Given the description of an element on the screen output the (x, y) to click on. 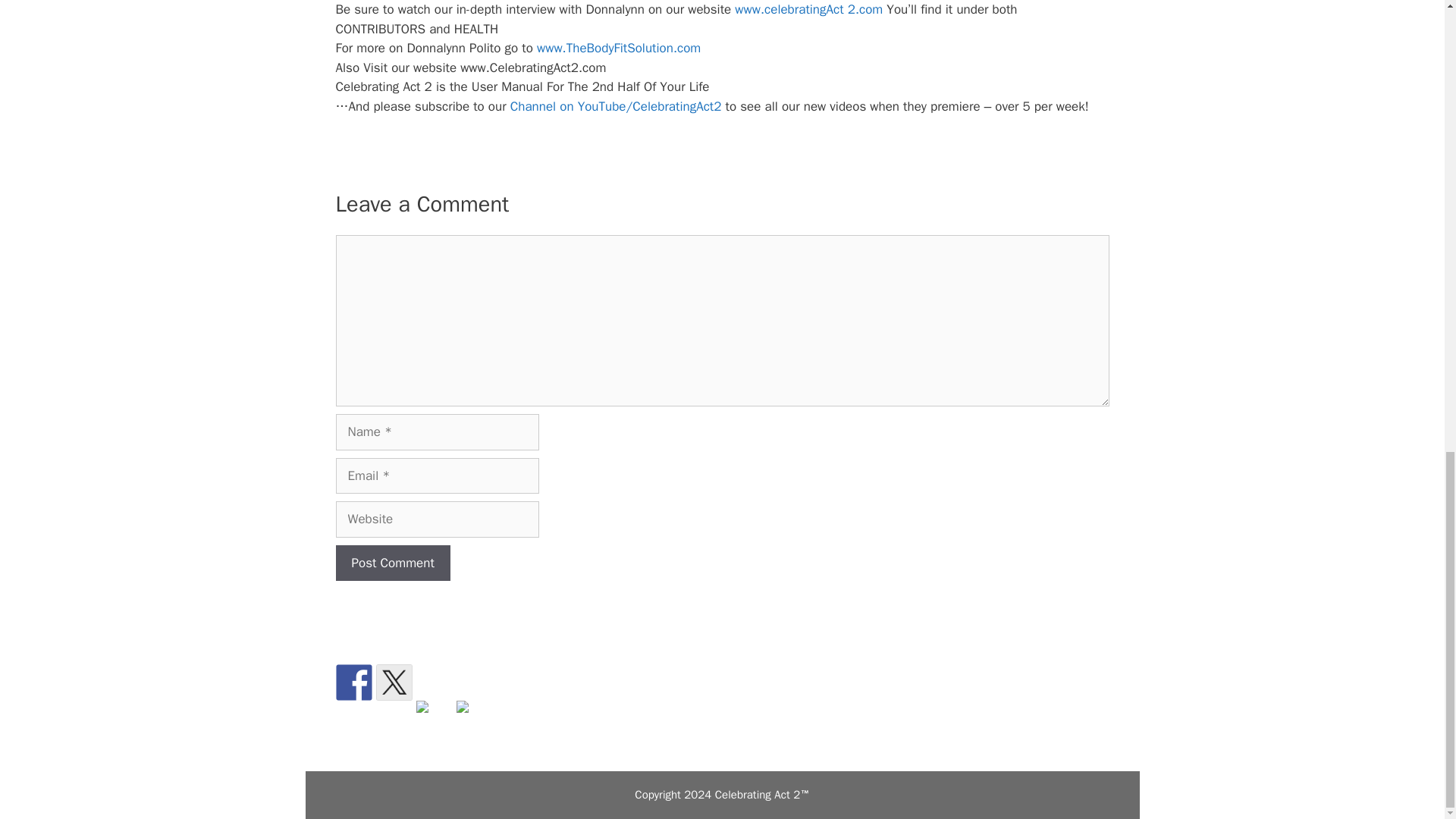
Post Comment (391, 563)
Post Comment (391, 563)
Check out our instagram feed (462, 706)
Find us on YouTube (421, 706)
Check out our instagram feed (475, 719)
www.celebratingAct 2.com (808, 9)
www.TheBodyFitSolution.com (618, 48)
Follow us on Twitter (393, 682)
Follow us on Facebook (352, 682)
Scroll back to top (1406, 526)
